Given the description of an element on the screen output the (x, y) to click on. 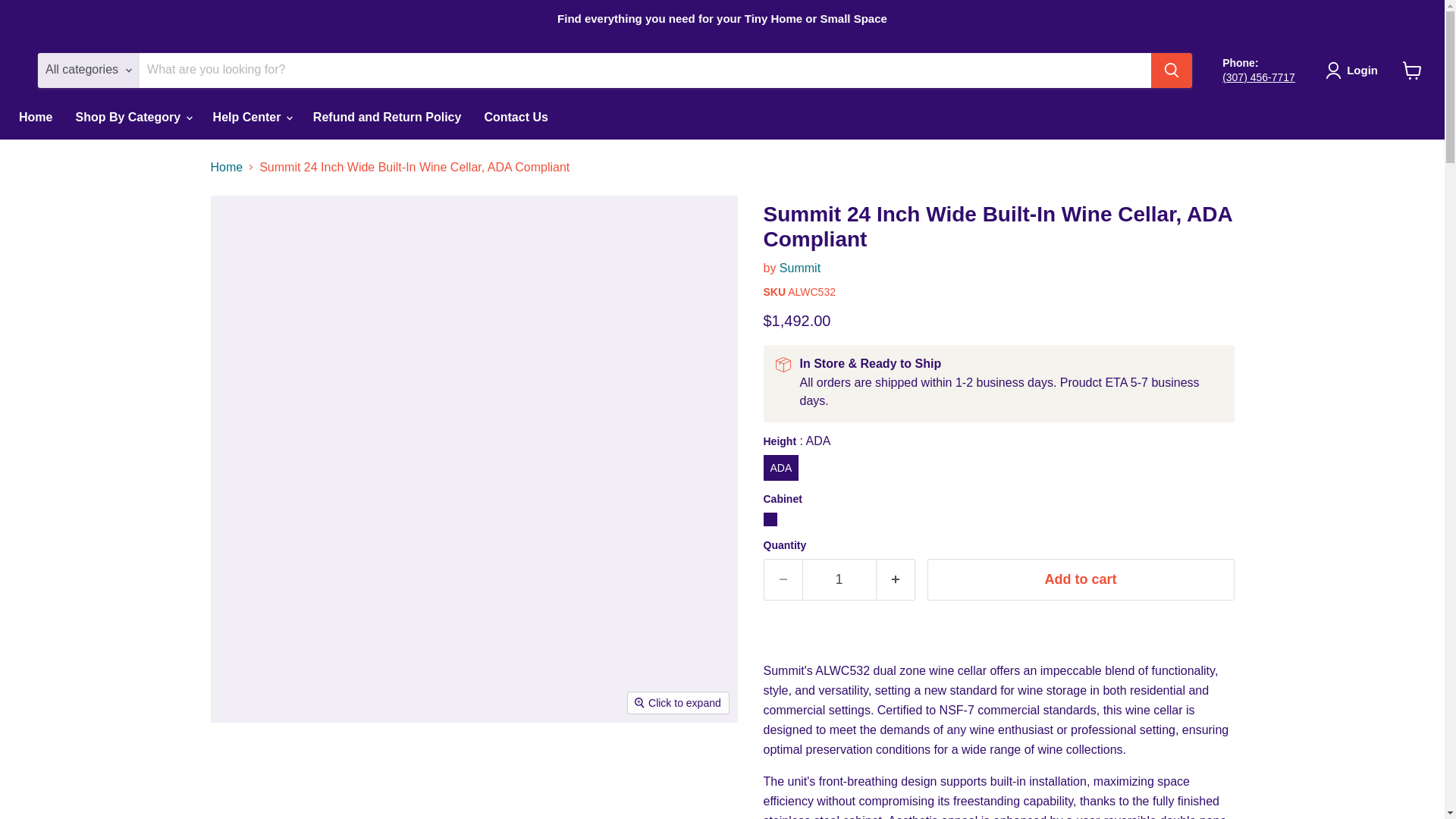
Login (1354, 70)
Summit (799, 267)
Refund and Return Policy (387, 117)
View cart (1411, 69)
Home (35, 117)
1 (839, 579)
